Given the description of an element on the screen output the (x, y) to click on. 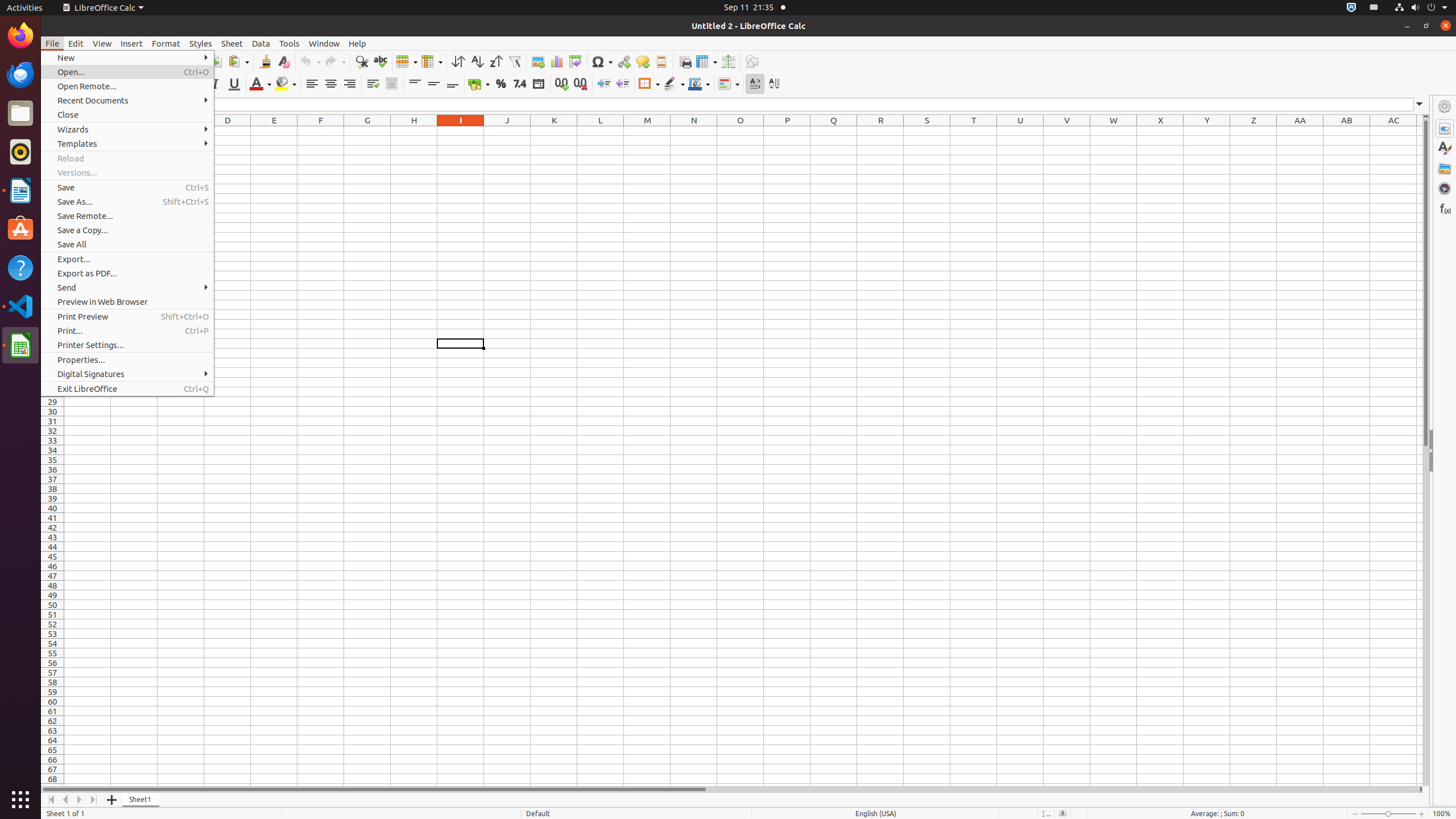
Wrap Text Element type: push-button (372, 83)
Font Color Element type: push-button (260, 83)
New Element type: menu (126, 57)
Save a Copy... Element type: menu-item (126, 229)
Properties... Element type: menu-item (126, 359)
